Given the description of an element on the screen output the (x, y) to click on. 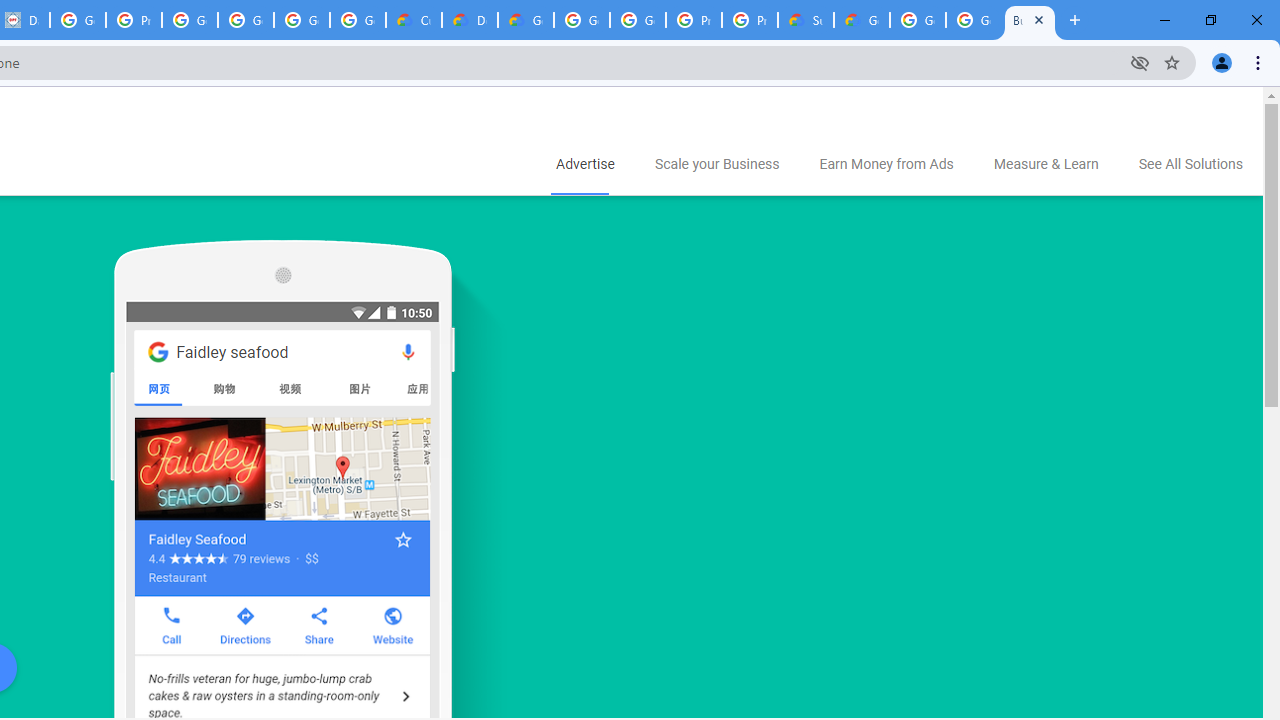
Advertise (584, 165)
Customer Care | Google Cloud (413, 20)
Google Cloud Platform (582, 20)
Scale your Business (716, 165)
See All Solutions (1189, 165)
